Given the description of an element on the screen output the (x, y) to click on. 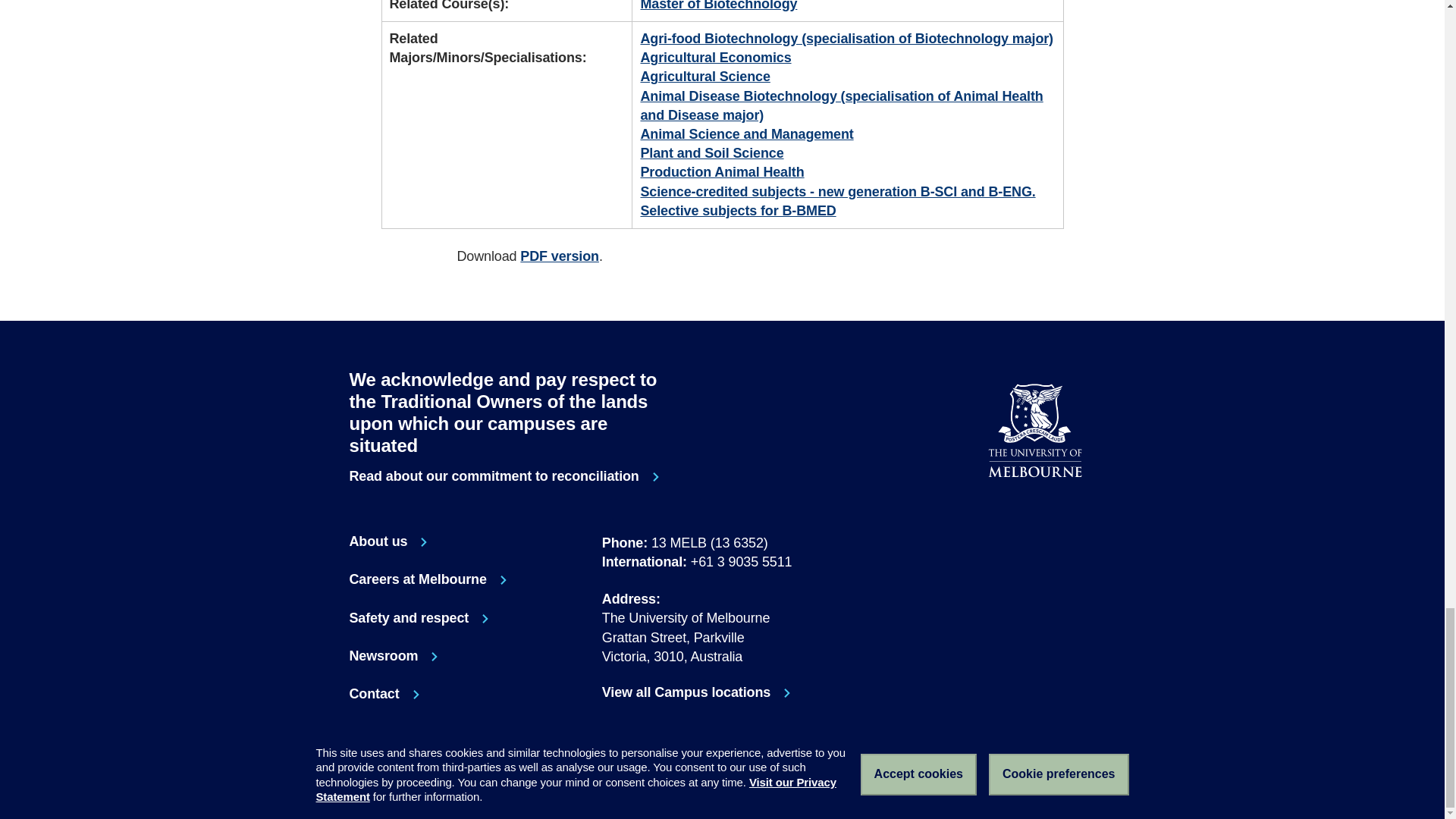
Newsroom (1079, 515)
Agricultural Science (1048, 515)
Master of Biotechnology (394, 656)
Safety and respect (705, 76)
Read about our commitment to reconciliation (718, 5)
Contact (419, 618)
Production Animal Health (506, 476)
Careers at Melbourne (384, 694)
Agricultural Economics (721, 171)
View all Campus locations (427, 579)
Science-credited subjects - new generation B-SCI and B-ENG. (715, 57)
Selective subjects for B-BMED (722, 692)
